Given the description of an element on the screen output the (x, y) to click on. 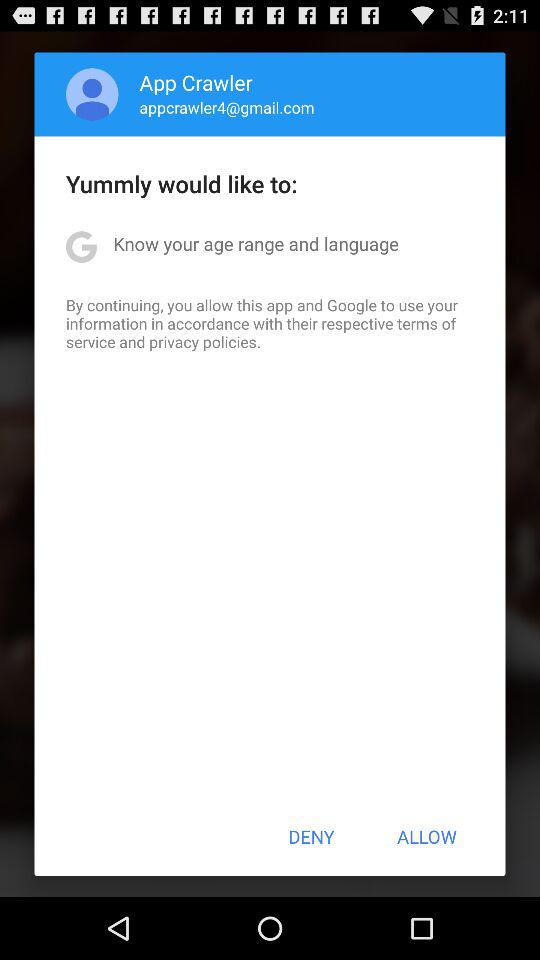
choose the deny icon (311, 836)
